Given the description of an element on the screen output the (x, y) to click on. 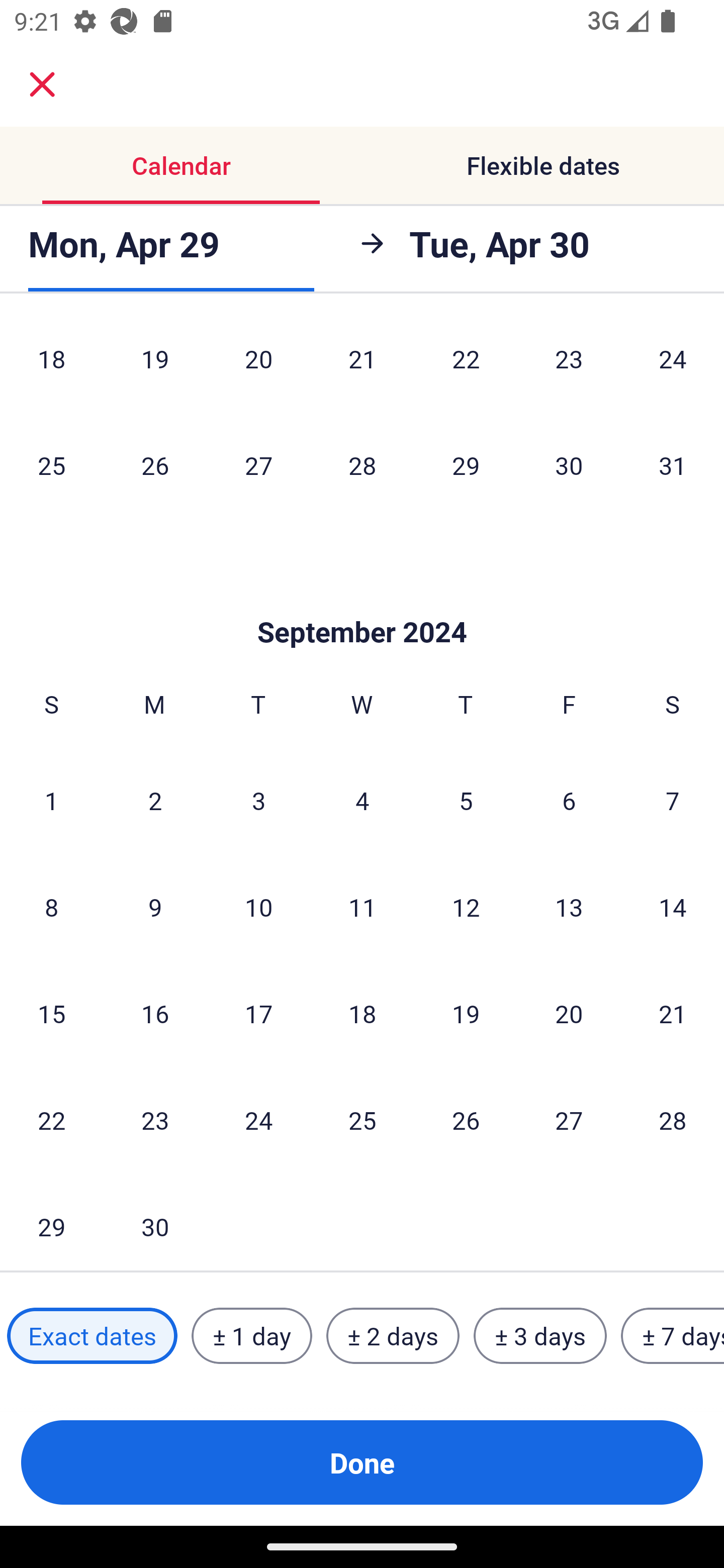
close. (42, 84)
Flexible dates (542, 164)
18 Sunday, August 18, 2024 (51, 365)
19 Monday, August 19, 2024 (155, 365)
20 Tuesday, August 20, 2024 (258, 365)
21 Wednesday, August 21, 2024 (362, 365)
22 Thursday, August 22, 2024 (465, 365)
23 Friday, August 23, 2024 (569, 365)
24 Saturday, August 24, 2024 (672, 365)
25 Sunday, August 25, 2024 (51, 464)
26 Monday, August 26, 2024 (155, 464)
27 Tuesday, August 27, 2024 (258, 464)
28 Wednesday, August 28, 2024 (362, 464)
29 Thursday, August 29, 2024 (465, 464)
30 Friday, August 30, 2024 (569, 464)
31 Saturday, August 31, 2024 (672, 464)
Skip to Done (362, 601)
1 Sunday, September 1, 2024 (51, 800)
2 Monday, September 2, 2024 (155, 800)
3 Tuesday, September 3, 2024 (258, 800)
4 Wednesday, September 4, 2024 (362, 800)
5 Thursday, September 5, 2024 (465, 800)
6 Friday, September 6, 2024 (569, 800)
7 Saturday, September 7, 2024 (672, 800)
8 Sunday, September 8, 2024 (51, 907)
9 Monday, September 9, 2024 (155, 907)
10 Tuesday, September 10, 2024 (258, 907)
11 Wednesday, September 11, 2024 (362, 907)
12 Thursday, September 12, 2024 (465, 907)
13 Friday, September 13, 2024 (569, 907)
14 Saturday, September 14, 2024 (672, 907)
15 Sunday, September 15, 2024 (51, 1012)
16 Monday, September 16, 2024 (155, 1012)
17 Tuesday, September 17, 2024 (258, 1012)
18 Wednesday, September 18, 2024 (362, 1012)
19 Thursday, September 19, 2024 (465, 1012)
20 Friday, September 20, 2024 (569, 1012)
21 Saturday, September 21, 2024 (672, 1012)
22 Sunday, September 22, 2024 (51, 1119)
23 Monday, September 23, 2024 (155, 1119)
24 Tuesday, September 24, 2024 (258, 1119)
25 Wednesday, September 25, 2024 (362, 1119)
26 Thursday, September 26, 2024 (465, 1119)
27 Friday, September 27, 2024 (569, 1119)
28 Saturday, September 28, 2024 (672, 1119)
29 Sunday, September 29, 2024 (51, 1222)
30 Monday, September 30, 2024 (155, 1222)
Exact dates (92, 1335)
± 1 day (251, 1335)
± 2 days (392, 1335)
± 3 days (539, 1335)
± 7 days (672, 1335)
Done (361, 1462)
